Given the description of an element on the screen output the (x, y) to click on. 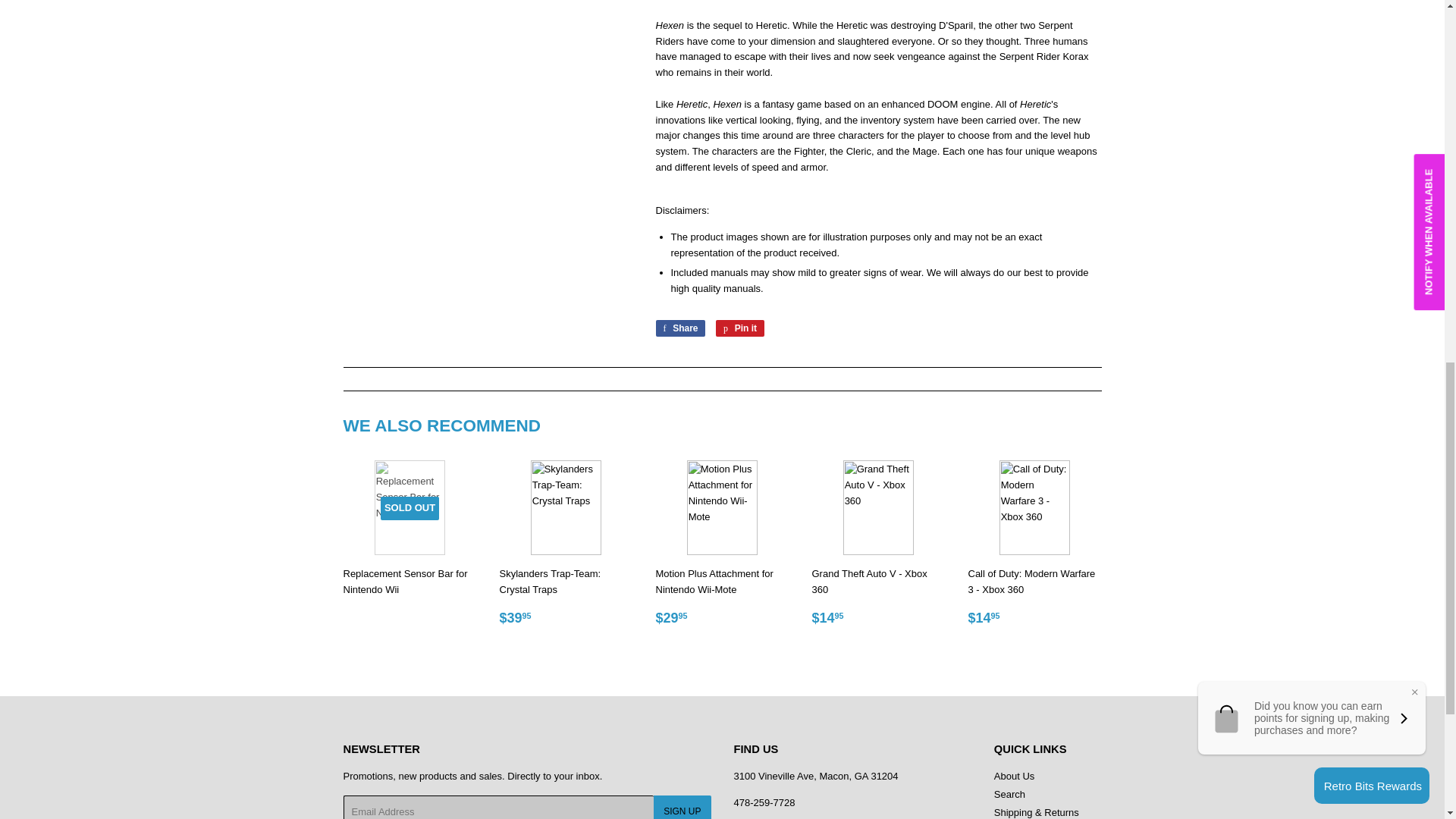
Share on Facebook (679, 328)
Pin on Pinterest (740, 328)
